Given the description of an element on the screen output the (x, y) to click on. 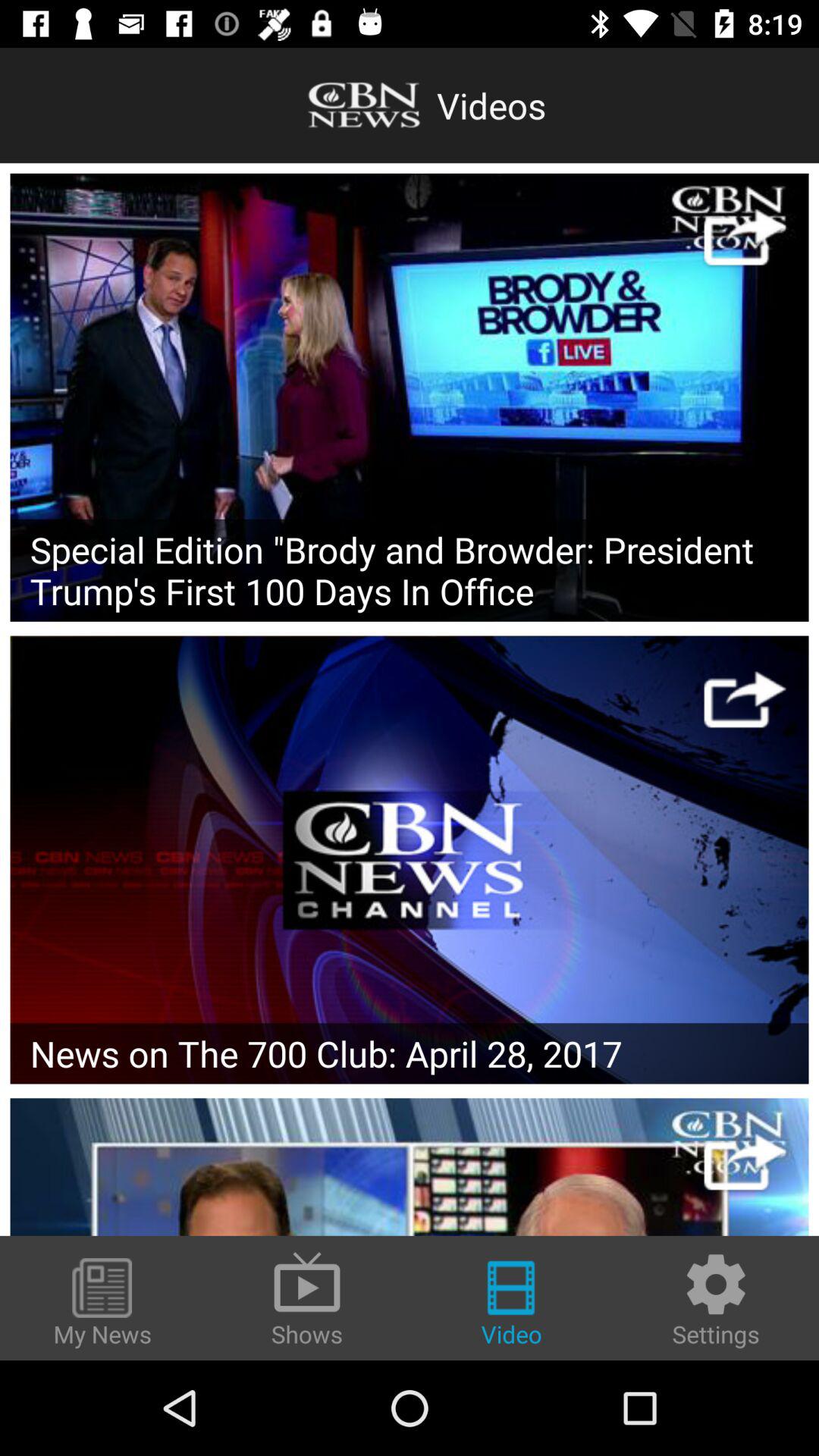
turn on the news on the icon (409, 1053)
